Given the description of an element on the screen output the (x, y) to click on. 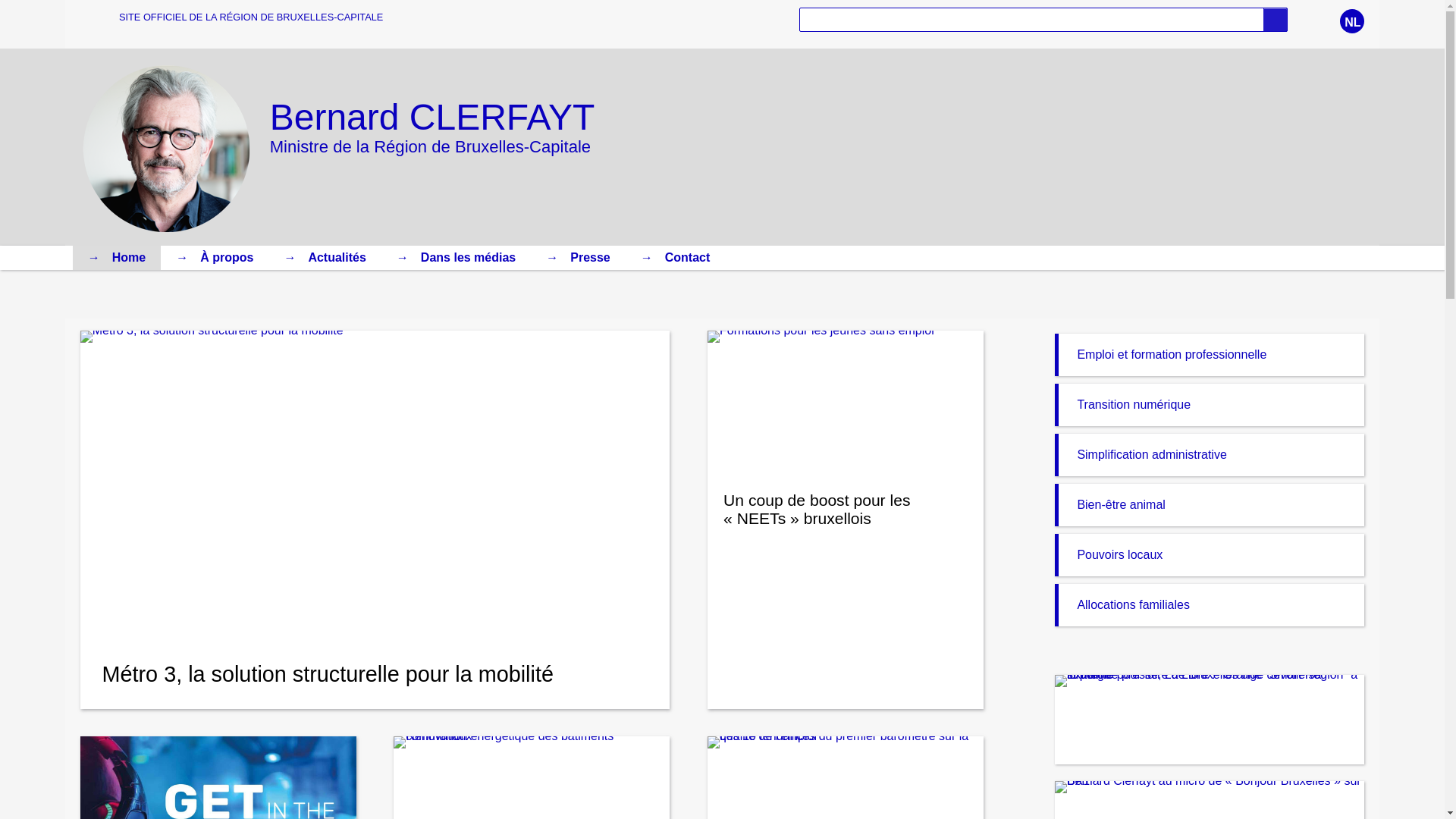
Emploi et formation professionnelle Element type: text (1209, 354)
NL Element type: text (1351, 21)
Allocations familiales Element type: text (1209, 604)
Rechercher Element type: text (1275, 19)
Bernard CLERFAYT Element type: text (432, 117)
Simplification administrative Element type: text (1209, 454)
Home Element type: text (116, 257)
Presse Element type: text (577, 257)
Pouvoirs locaux Element type: text (1209, 554)
Contact Element type: text (675, 257)
